Given the description of an element on the screen output the (x, y) to click on. 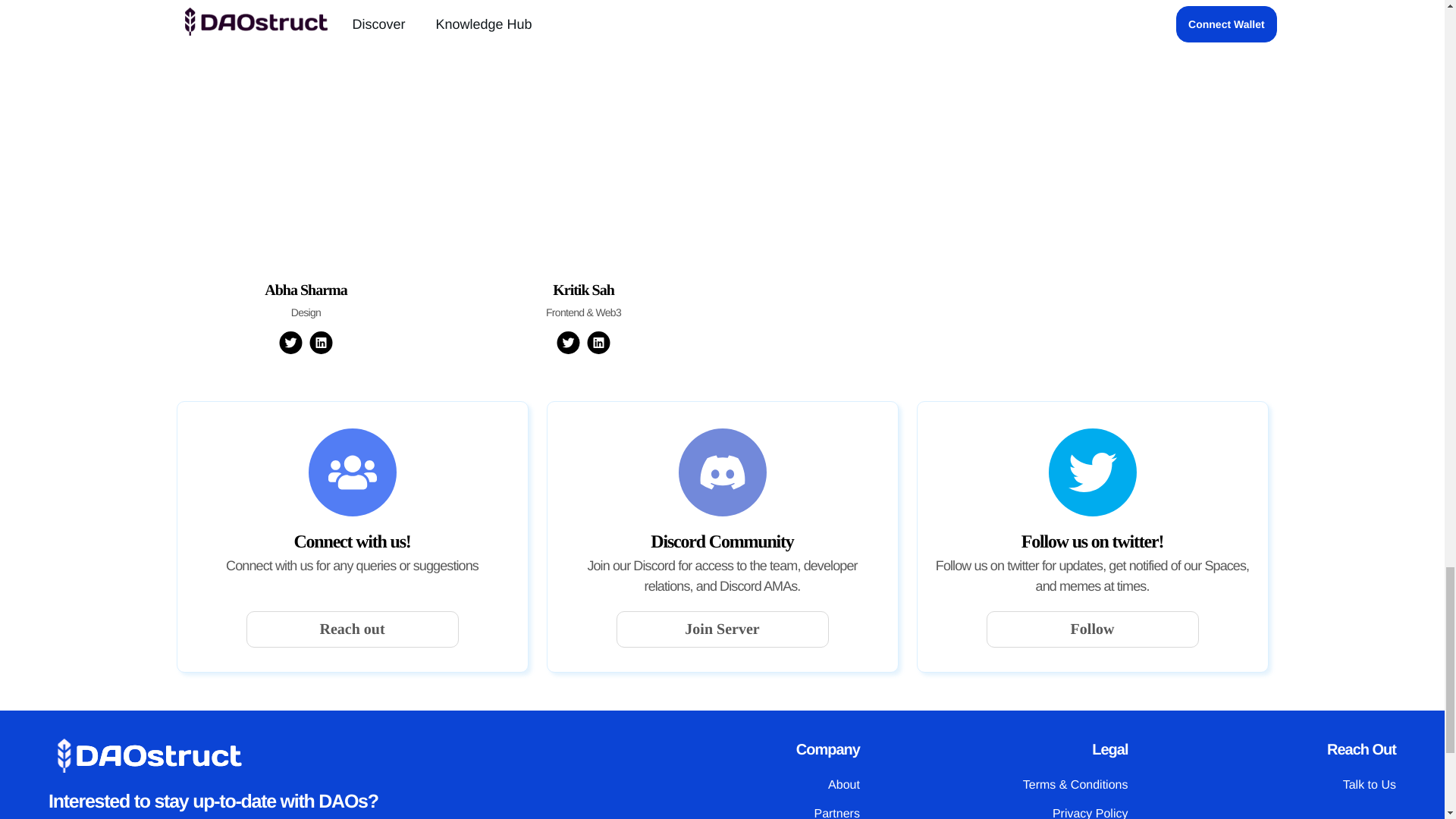
Join Server (721, 628)
Talk to Us (1369, 784)
Privacy Policy (1090, 813)
Partners (836, 813)
About (844, 784)
Reach out (352, 628)
Follow (1091, 628)
